Given the description of an element on the screen output the (x, y) to click on. 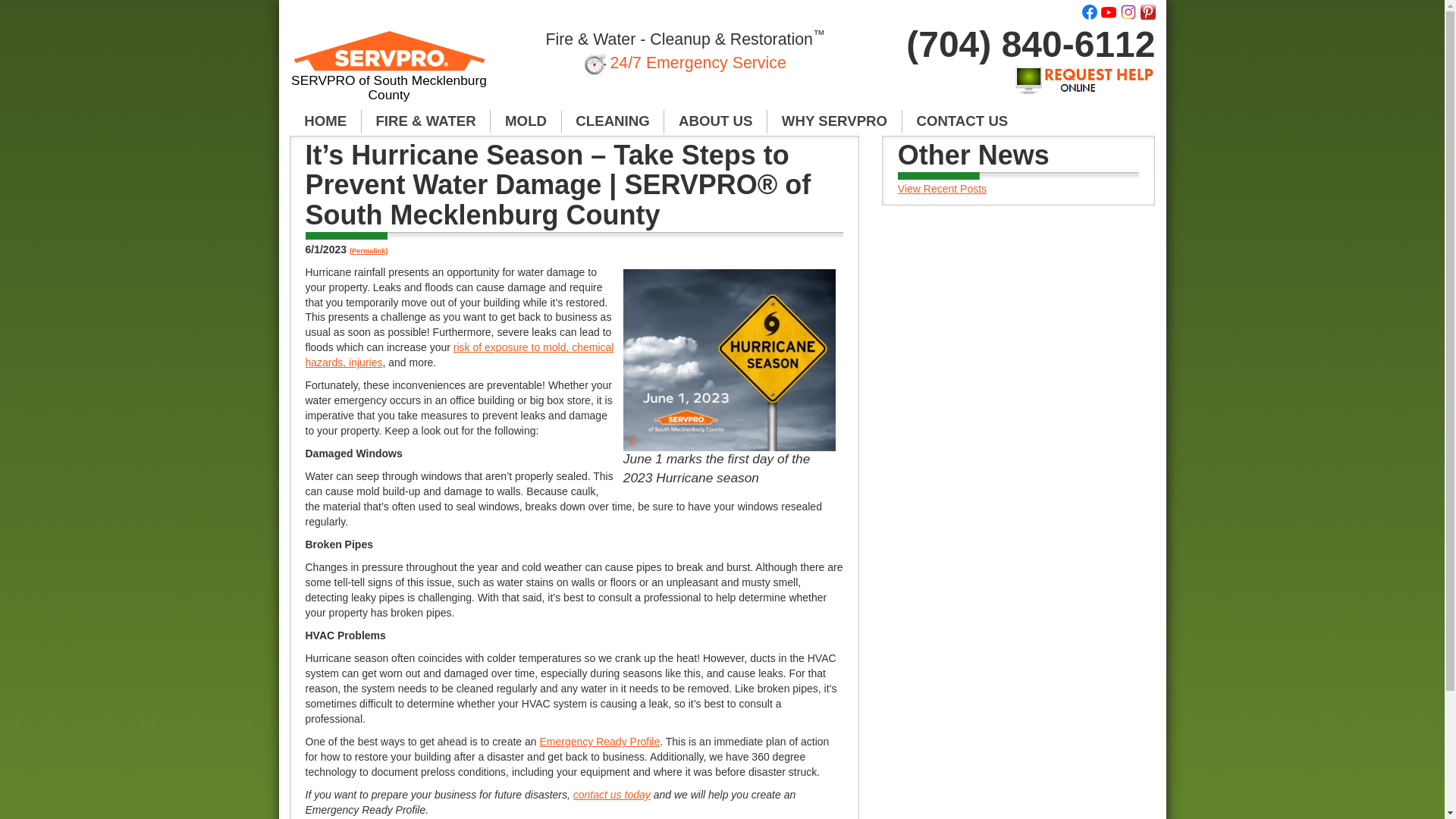
ABOUT US (715, 121)
SERVPRO of South Mecklenburg County (389, 72)
MOLD (525, 121)
CLEANING (613, 121)
Emergency Ready Profile (598, 741)
HOME (325, 121)
SERVPRO of South Mecklenburg County (611, 794)
